Given the description of an element on the screen output the (x, y) to click on. 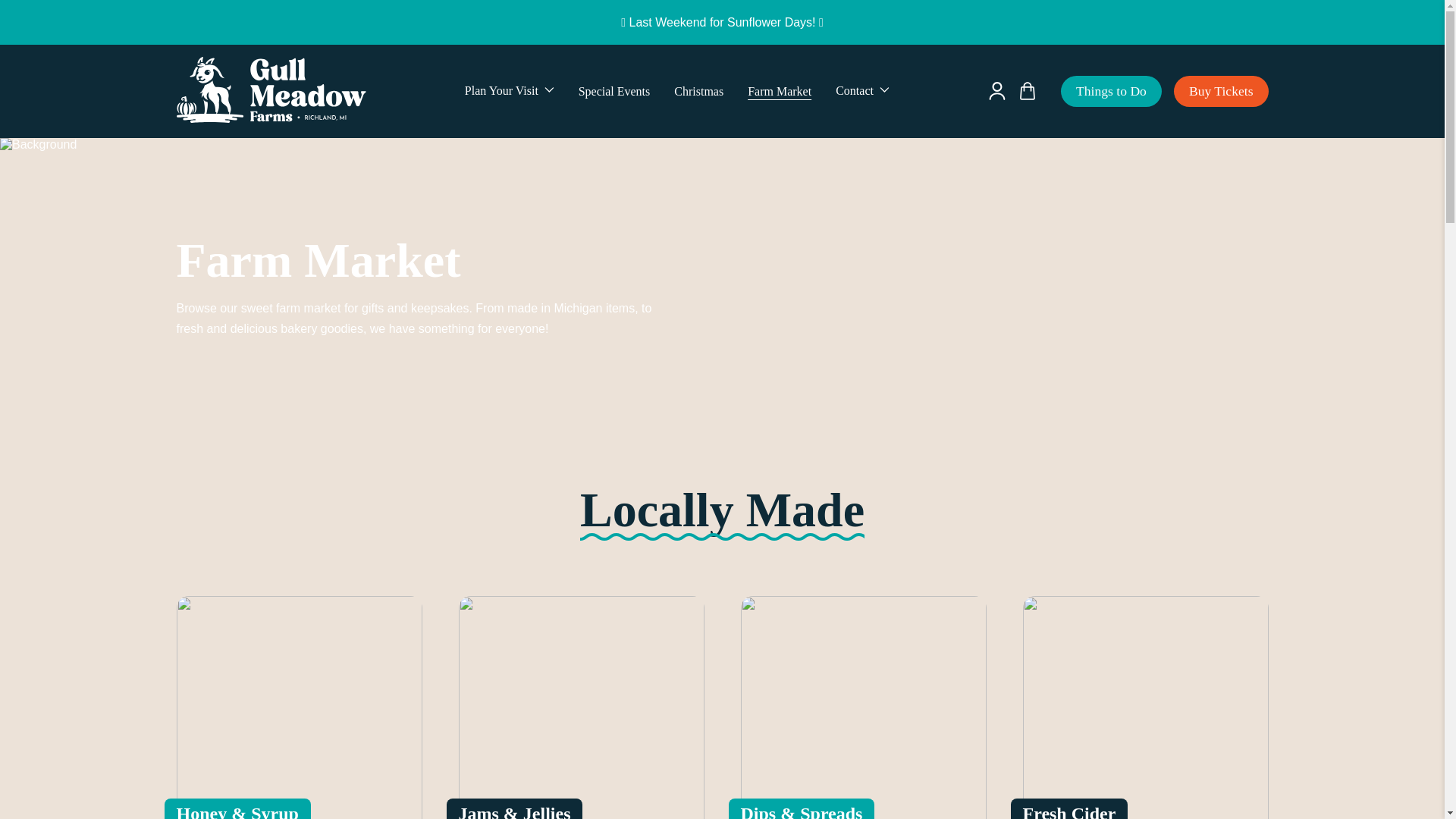
Log in (997, 90)
Things to Do (1111, 91)
Buy Tickets (1220, 91)
Cart (1026, 90)
Farm Market (779, 91)
Special Events (614, 91)
Christmas (698, 91)
